Given the description of an element on the screen output the (x, y) to click on. 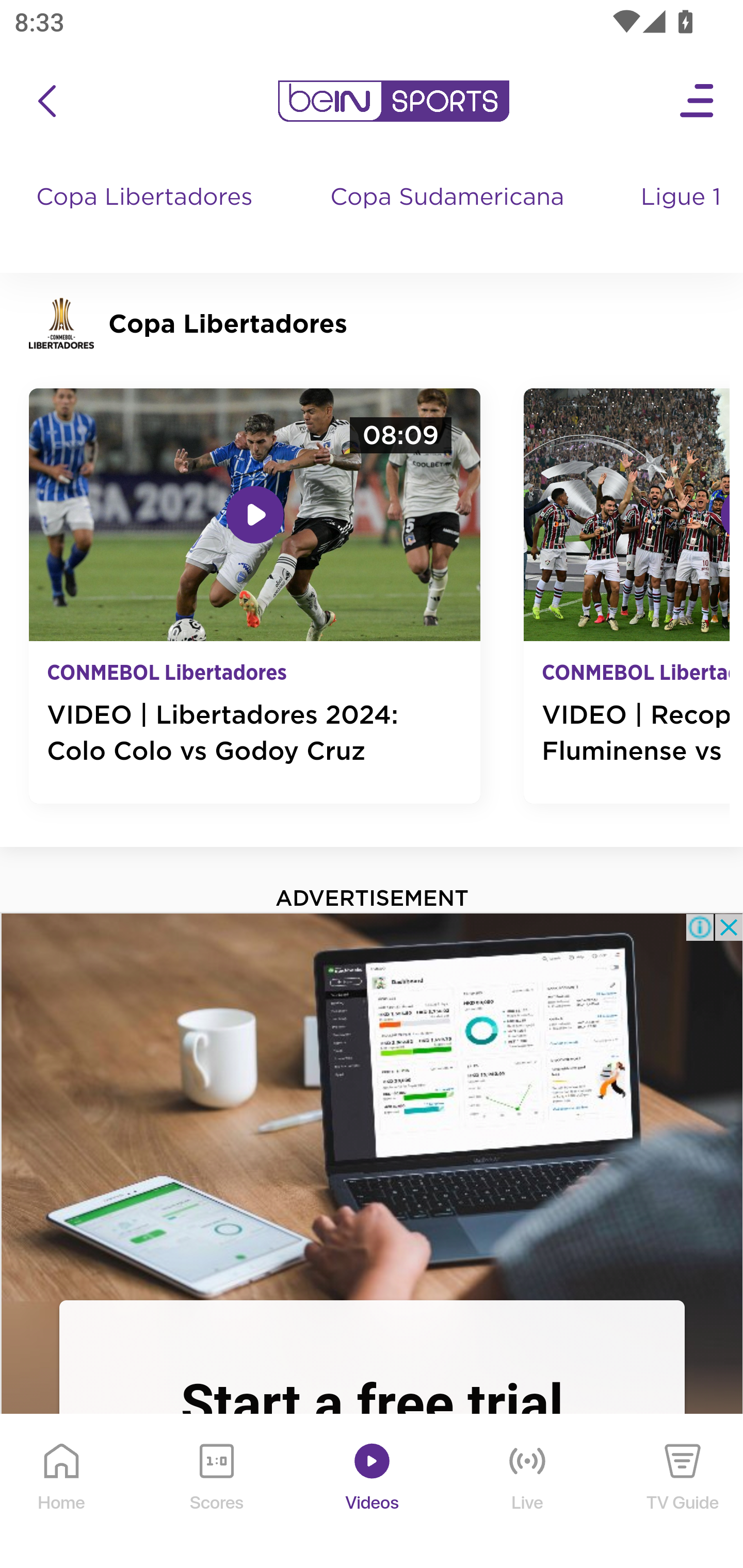
en-us?platform=mobile_android bein logo (392, 101)
icon back (46, 101)
Open Menu Icon (697, 101)
Copa Libertadores (146, 216)
Copa Sudamericana (448, 216)
Ligue 1 (682, 216)
%3Fcid%3Dppc_ROW_%7Bdscampaign%7D%26gclsrc%3Daw (371, 1105)
Home Home Icon Home (61, 1491)
Scores Scores Icon Scores (216, 1491)
Videos Videos Icon Videos (372, 1491)
TV Guide TV Guide Icon TV Guide (682, 1491)
